Given the description of an element on the screen output the (x, y) to click on. 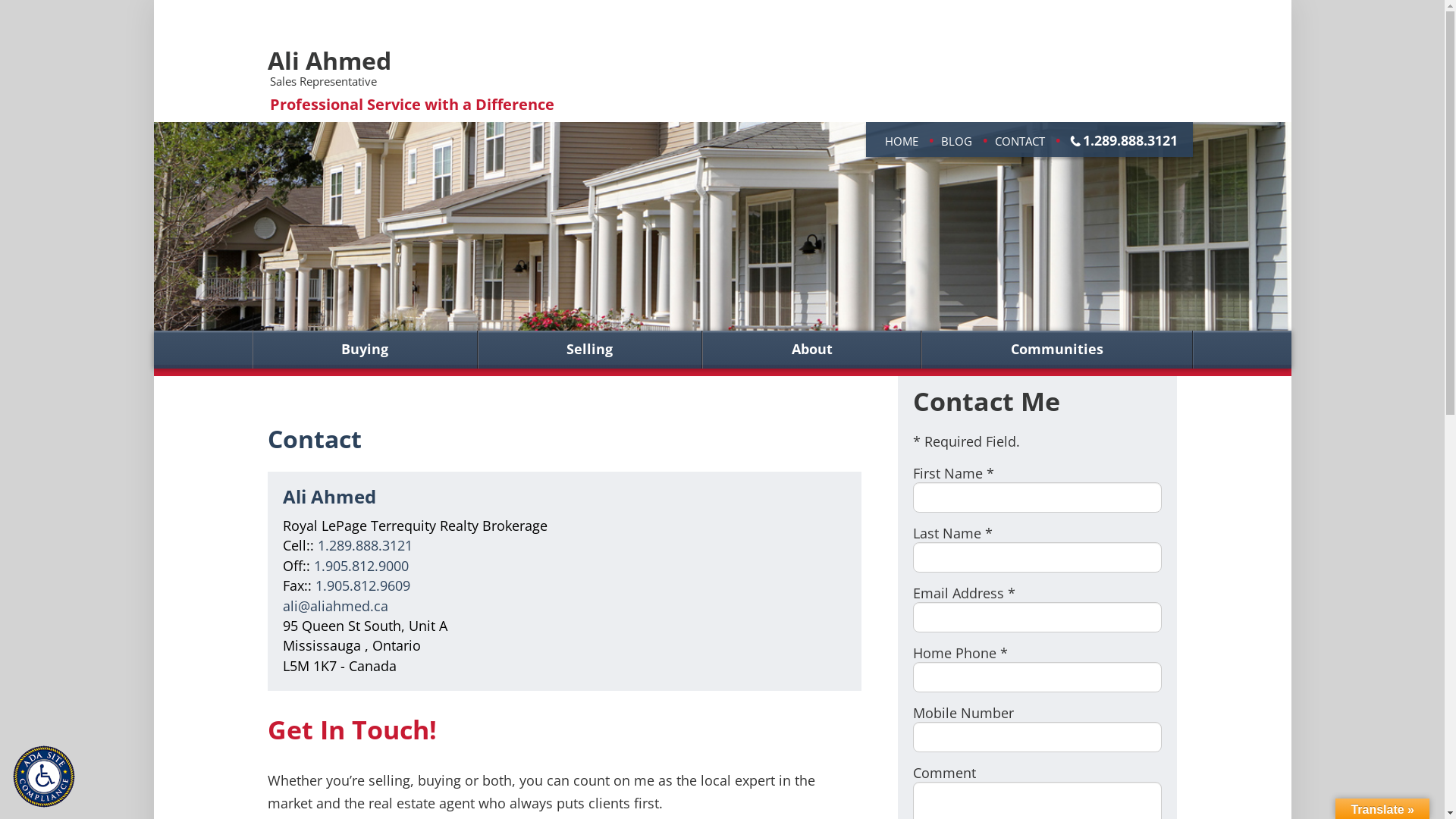
1.289.888.3121 Element type: text (363, 545)
1.289.888.3121 Element type: text (1129, 140)
Accessibility Menu Element type: hover (47, 780)
Buying Element type: text (364, 349)
Accessibility Menu Element type: hover (43, 776)
ali@aliahmed.ca Element type: text (334, 605)
BLOG Element type: text (955, 140)
1.905.812.9000 Element type: text (360, 565)
Communities Element type: text (1056, 349)
HOME Element type: text (900, 140)
CONTACT Element type: text (1019, 140)
Selling Element type: text (589, 349)
Ali Ahmed Element type: text (328, 59)
About Element type: text (811, 349)
1.905.812.9609 Element type: text (362, 585)
